Given the description of an element on the screen output the (x, y) to click on. 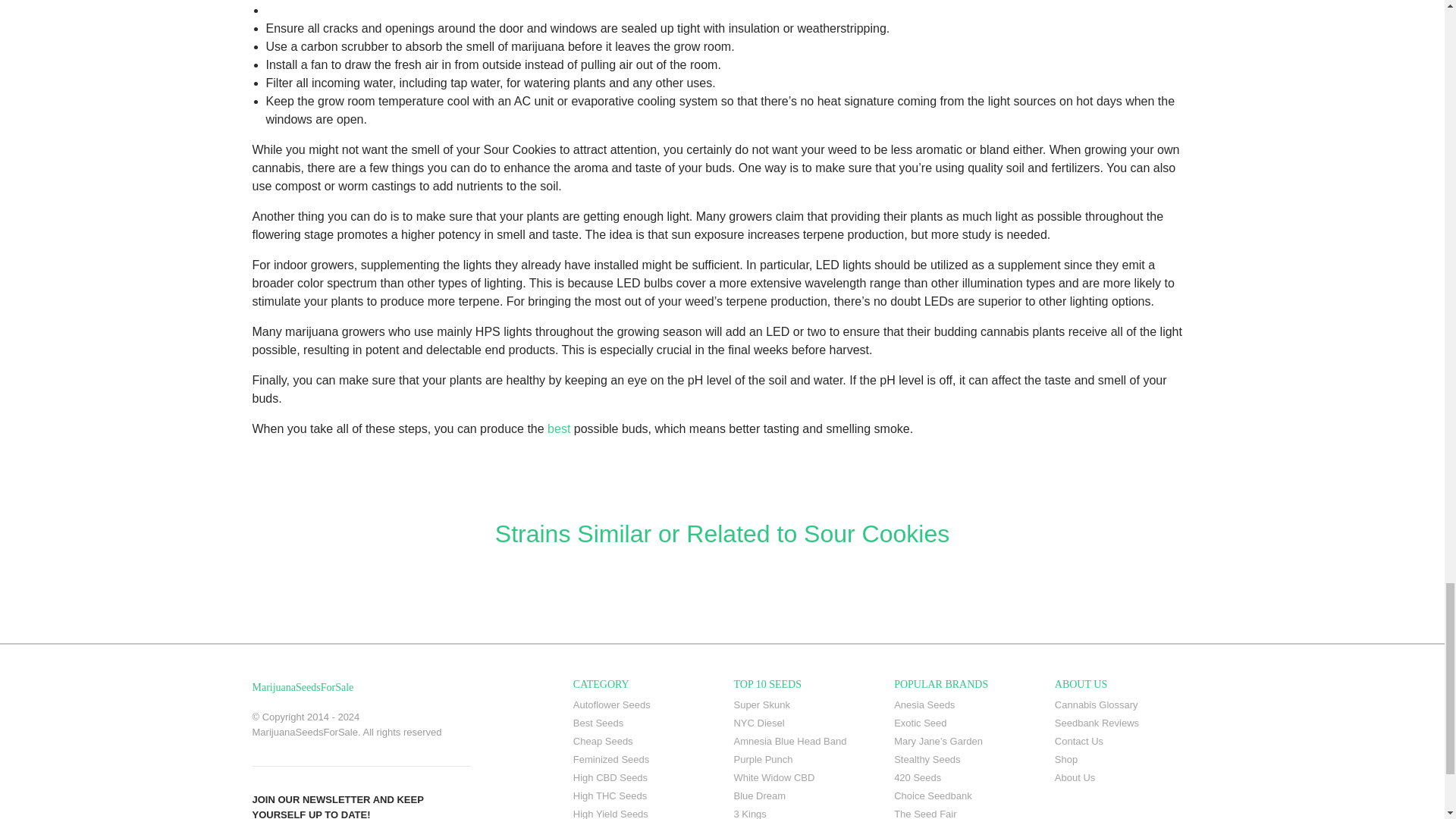
Cannabis Glossary (1123, 705)
Seedbank Reviews (1123, 723)
best (558, 428)
